Given the description of an element on the screen output the (x, y) to click on. 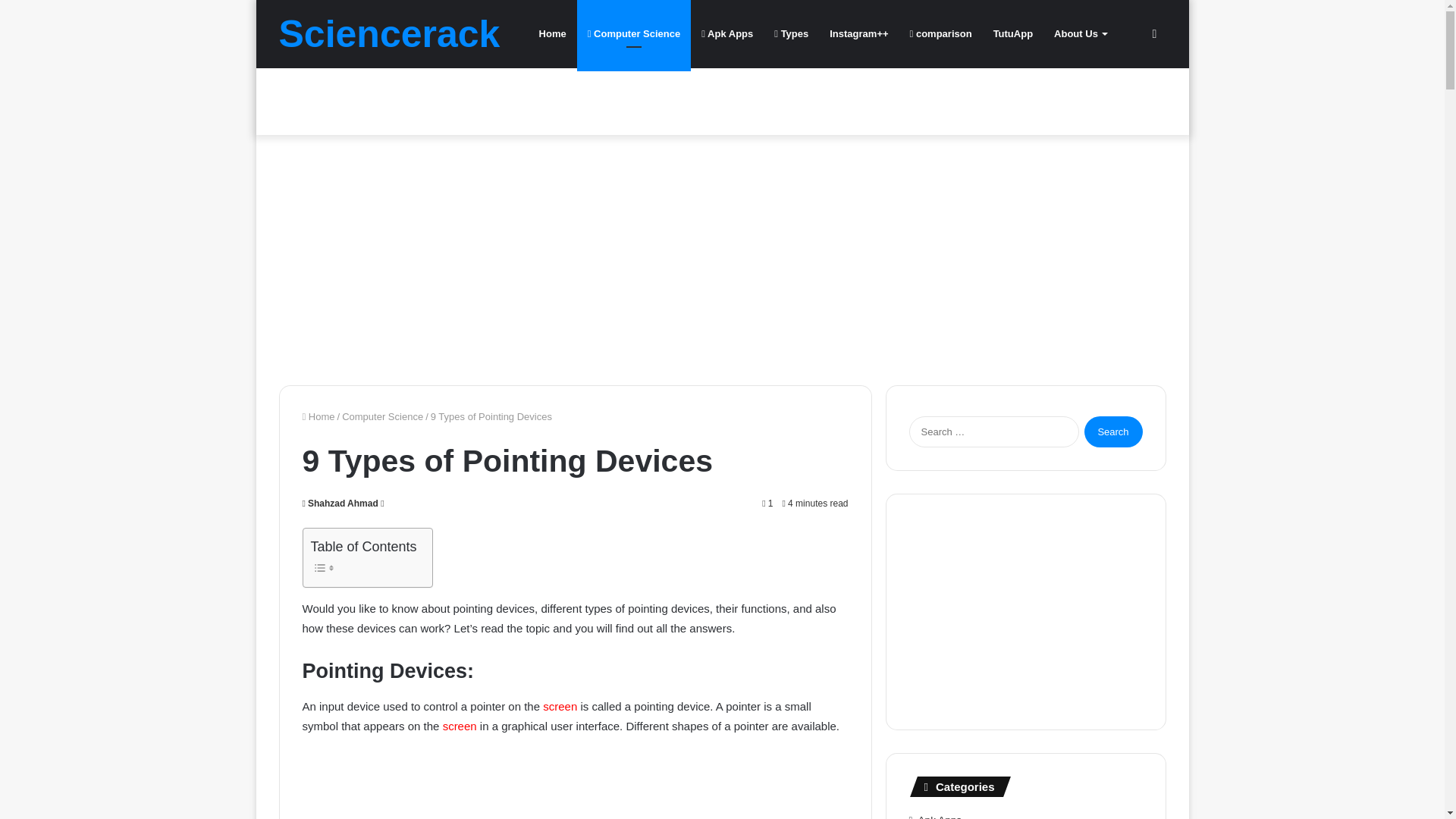
Shahzad Ahmad (339, 502)
Apk Apps (726, 33)
Search (1113, 431)
Shahzad Ahmad (339, 502)
screen (559, 706)
Search (1113, 431)
comparison (940, 33)
Sciencerack (389, 34)
Computer Science (382, 416)
TutuApp (1012, 33)
Computer Science (633, 33)
Sciencerack (389, 34)
Home (317, 416)
About Us (1079, 33)
